Given the description of an element on the screen output the (x, y) to click on. 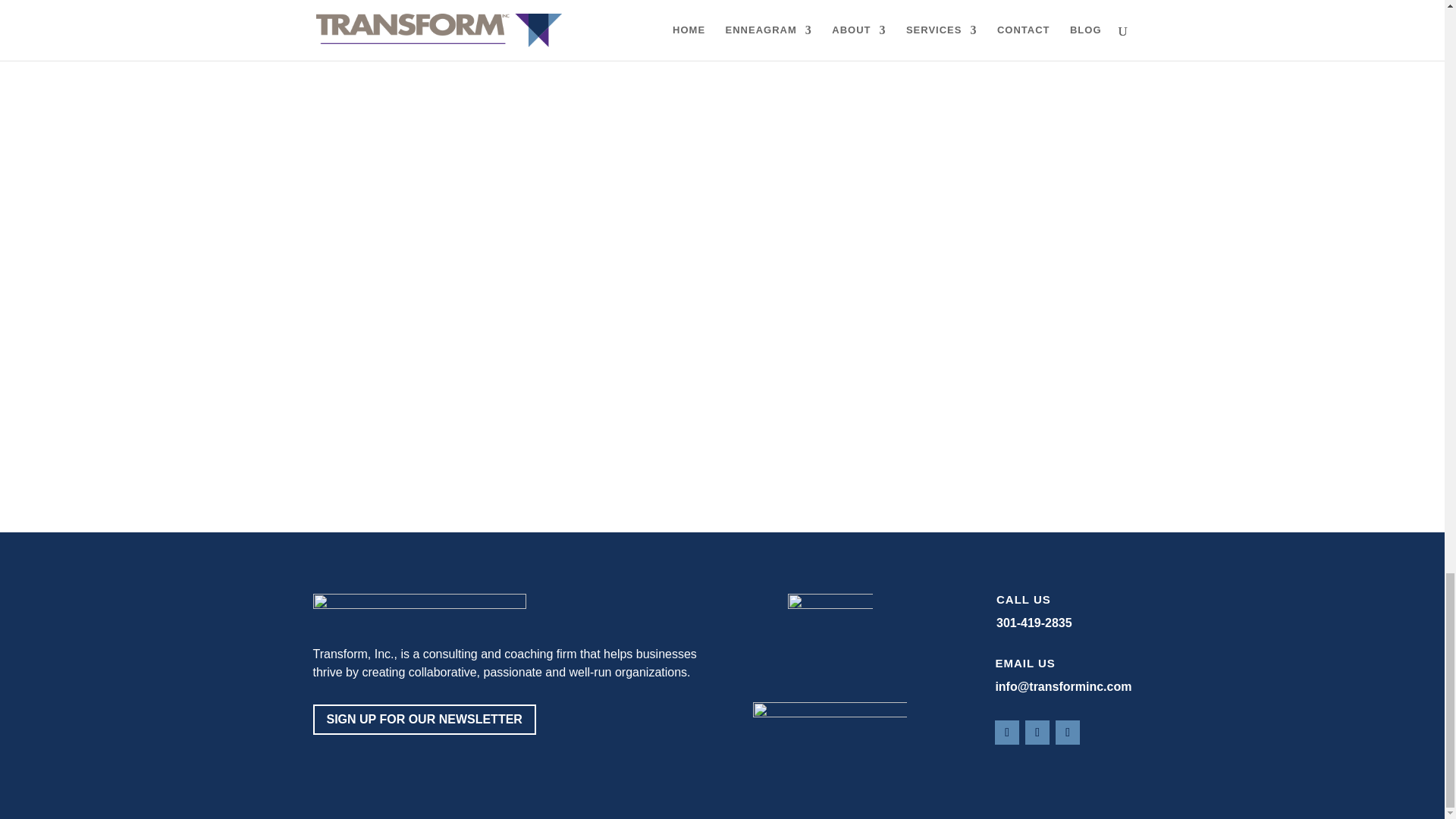
IAE-2 (829, 729)
Follow on Youtube (1067, 732)
Follow on LinkedIn (1037, 732)
Follow on Facebook (1006, 732)
TNE (830, 636)
Transform-Logo-White281x38 (419, 607)
